Given the description of an element on the screen output the (x, y) to click on. 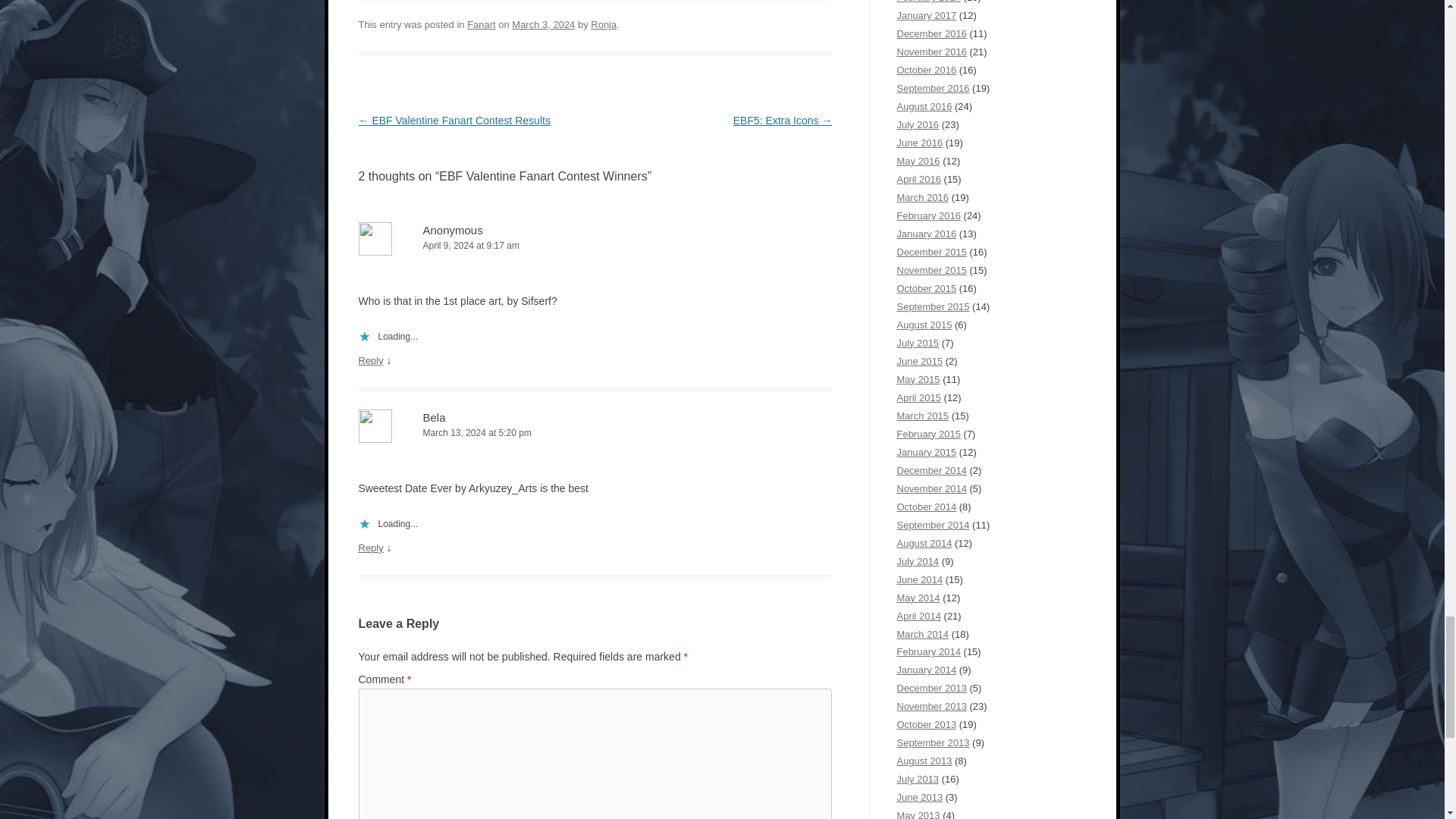
April 9, 2024 at 9:17 am (594, 245)
View all posts by Ronja (603, 24)
Ronja (603, 24)
Reply (370, 547)
Reply (370, 360)
Bela (434, 417)
Fanart (481, 24)
March 3, 2024 (543, 24)
March 13, 2024 at 5:20 pm (594, 433)
4:07 pm (543, 24)
